Given the description of an element on the screen output the (x, y) to click on. 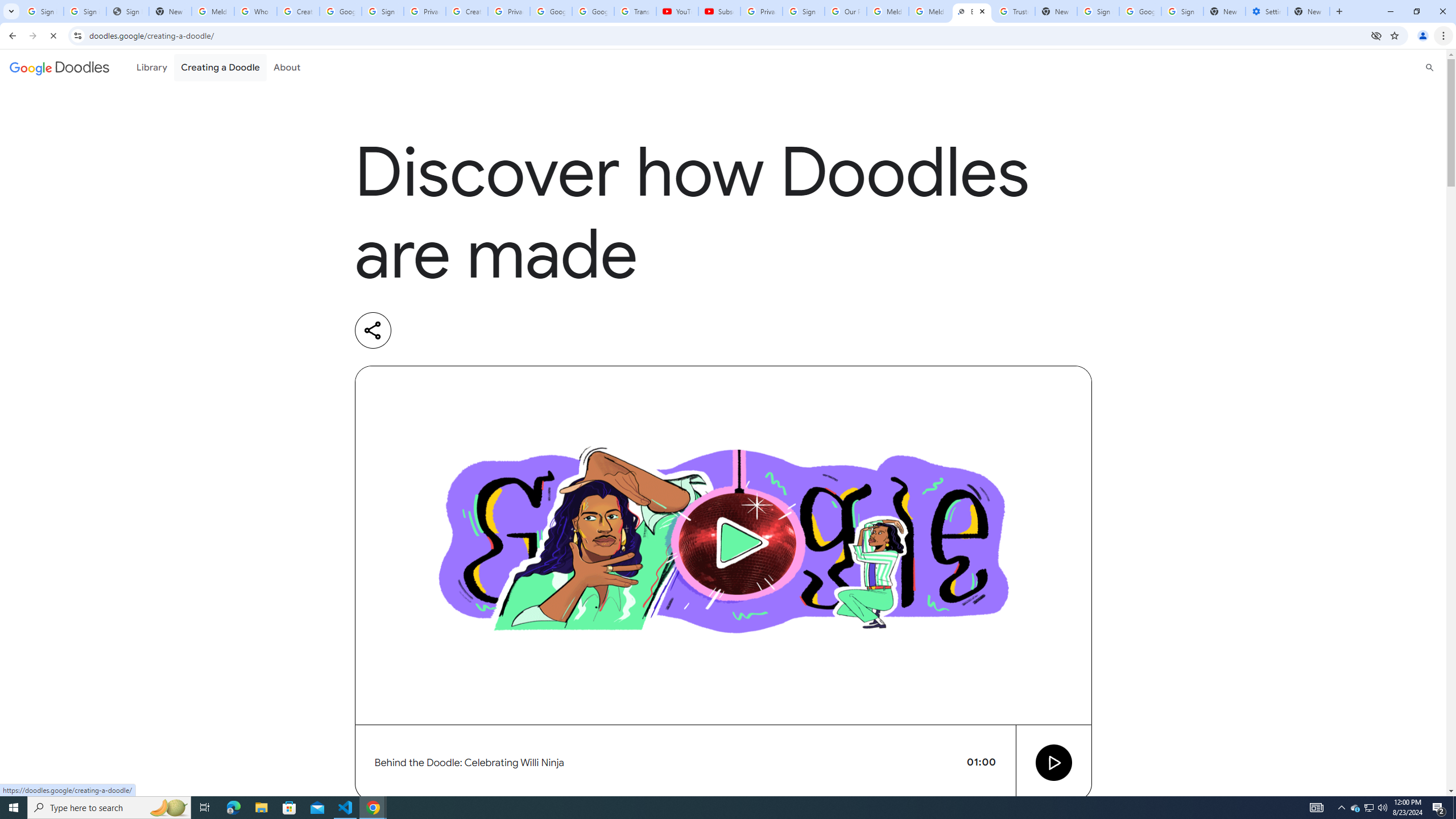
Sign in - Google Accounts (382, 11)
New Tab (1224, 11)
YouTube (676, 11)
Sign In - USA TODAY (127, 11)
Subscriptions - YouTube (719, 11)
Share on facebook (512, 330)
